Given the description of an element on the screen output the (x, y) to click on. 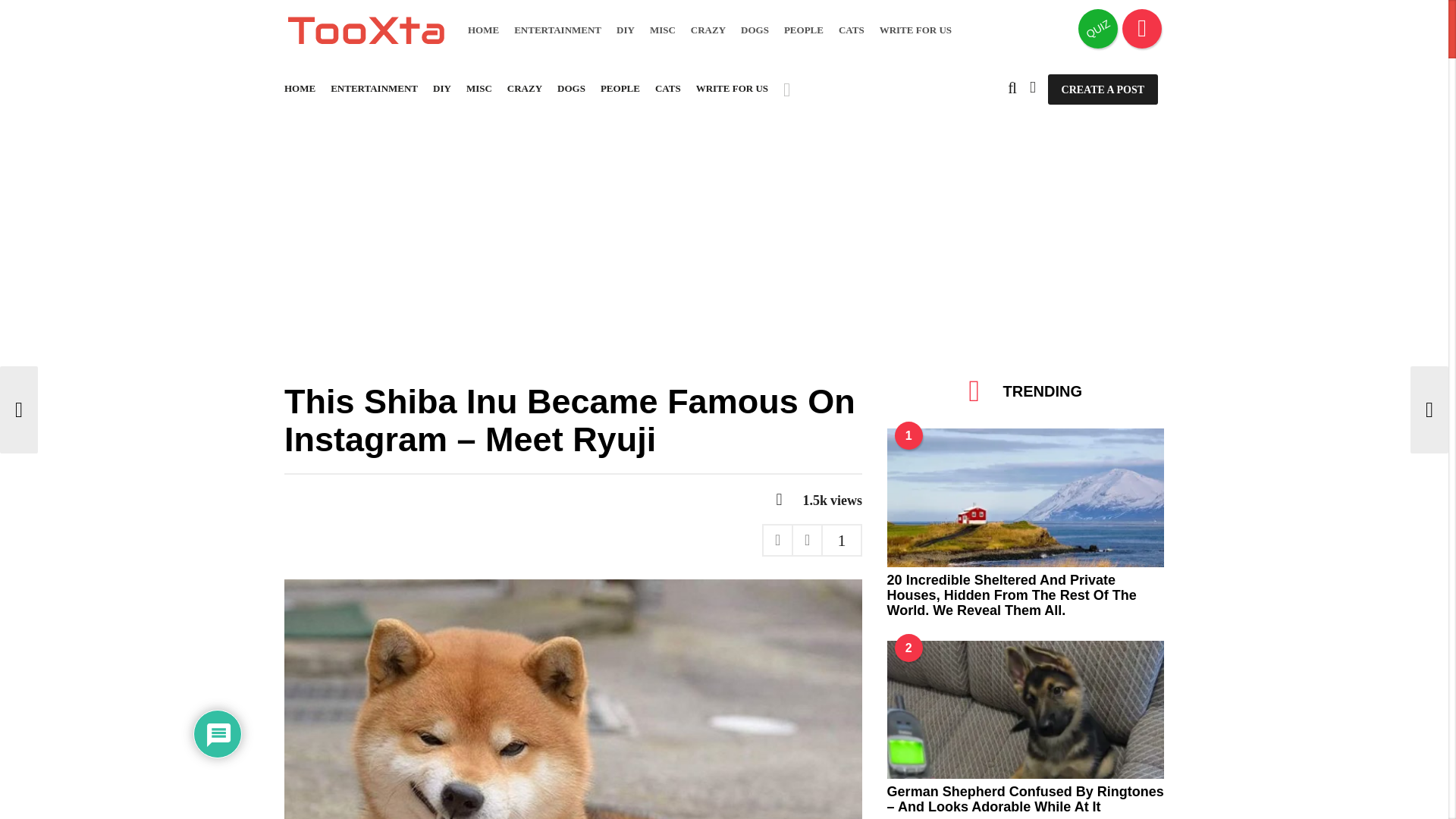
PEOPLE (804, 30)
CRAZY (707, 30)
MISC (662, 30)
HOME (483, 30)
DOGS (754, 30)
ENTERTAINMENT (557, 30)
Trending (1141, 28)
DIY (624, 30)
WRITE FOR US (915, 30)
Quiz (1098, 28)
CATS (851, 30)
QUIZ (1098, 28)
